Given the description of an element on the screen output the (x, y) to click on. 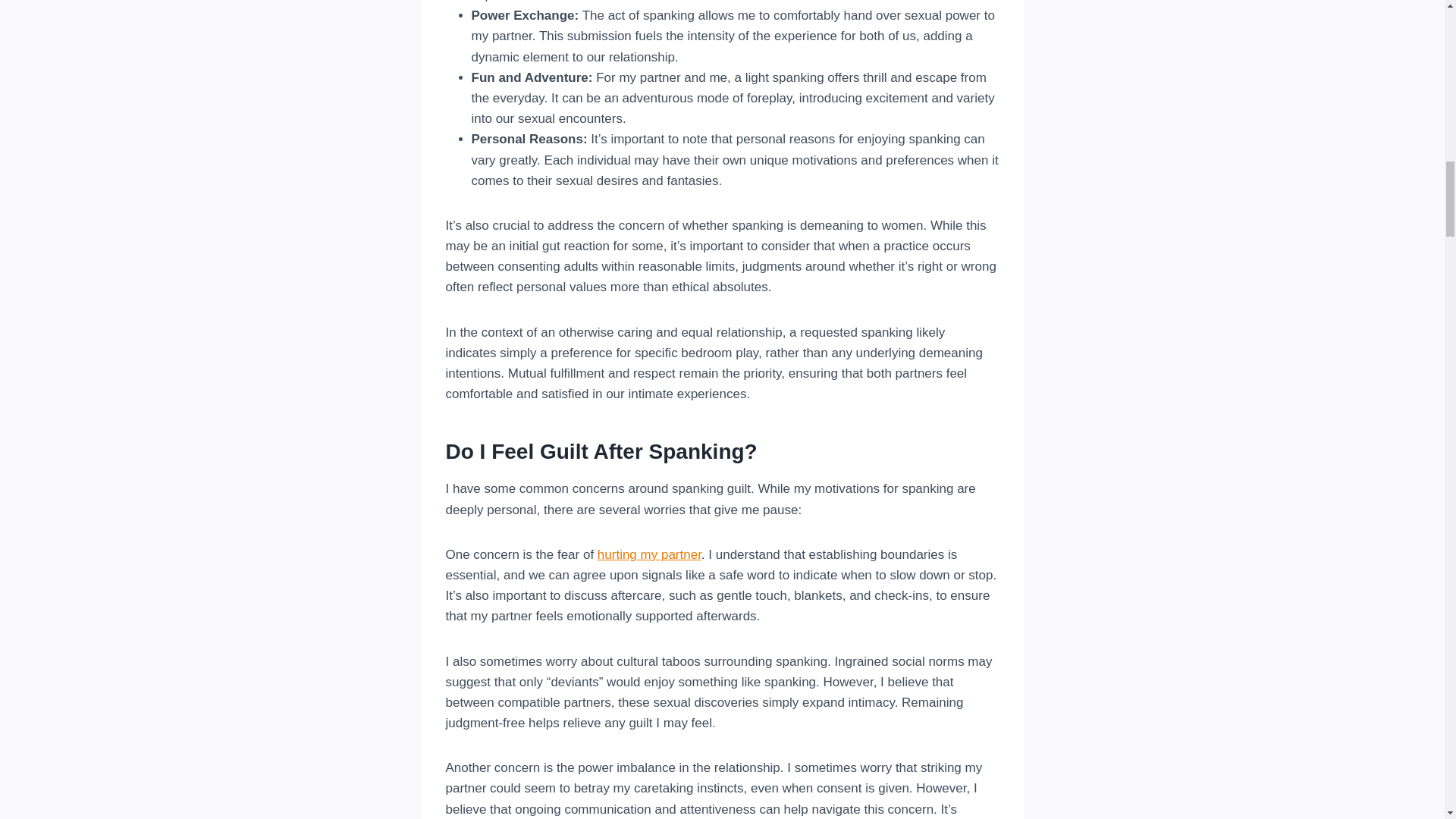
hurting my partner (648, 554)
